Given the description of an element on the screen output the (x, y) to click on. 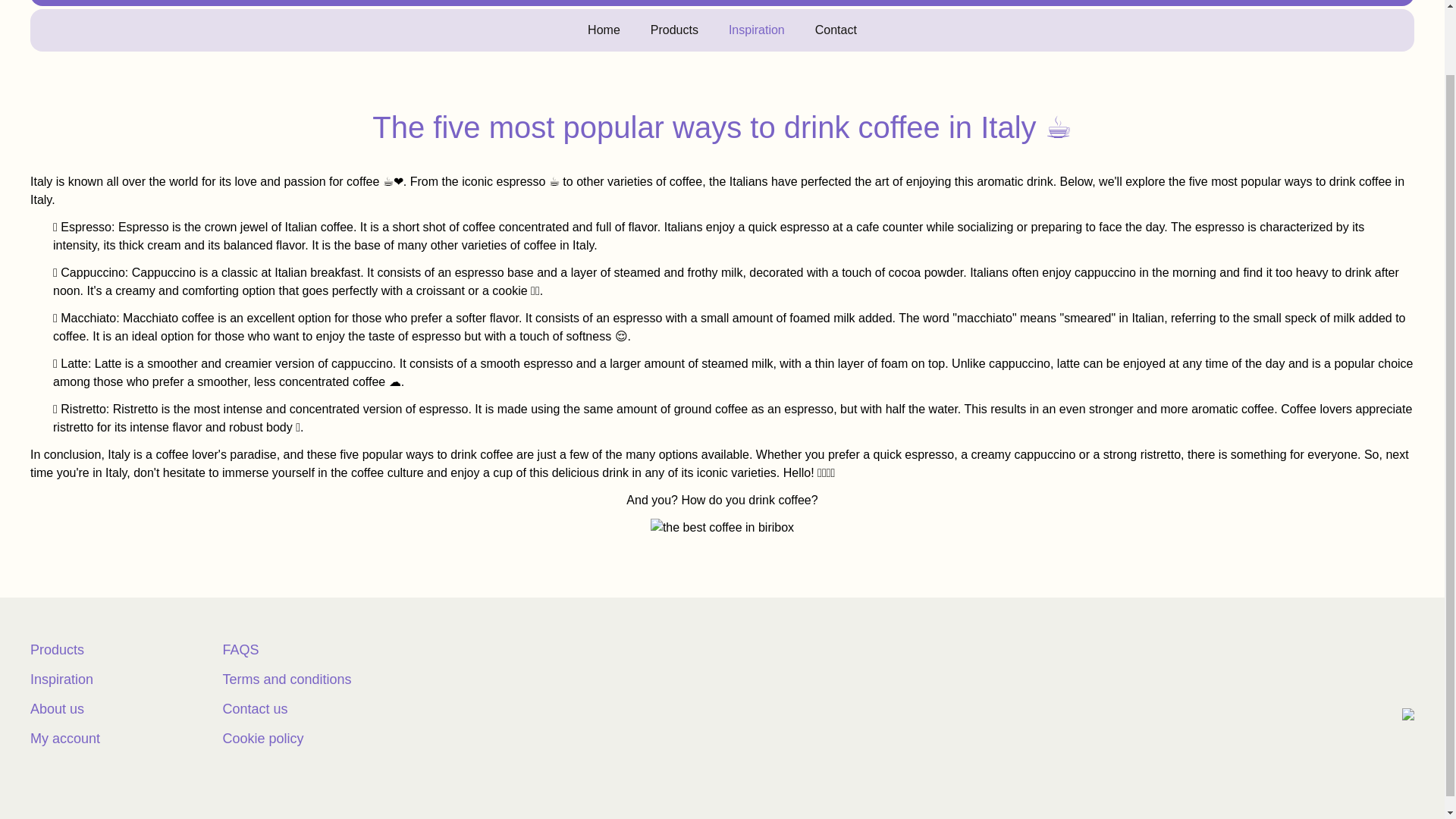
Contact (836, 29)
Home (604, 29)
Inspiration (756, 29)
Products (674, 29)
